Given the description of an element on the screen output the (x, y) to click on. 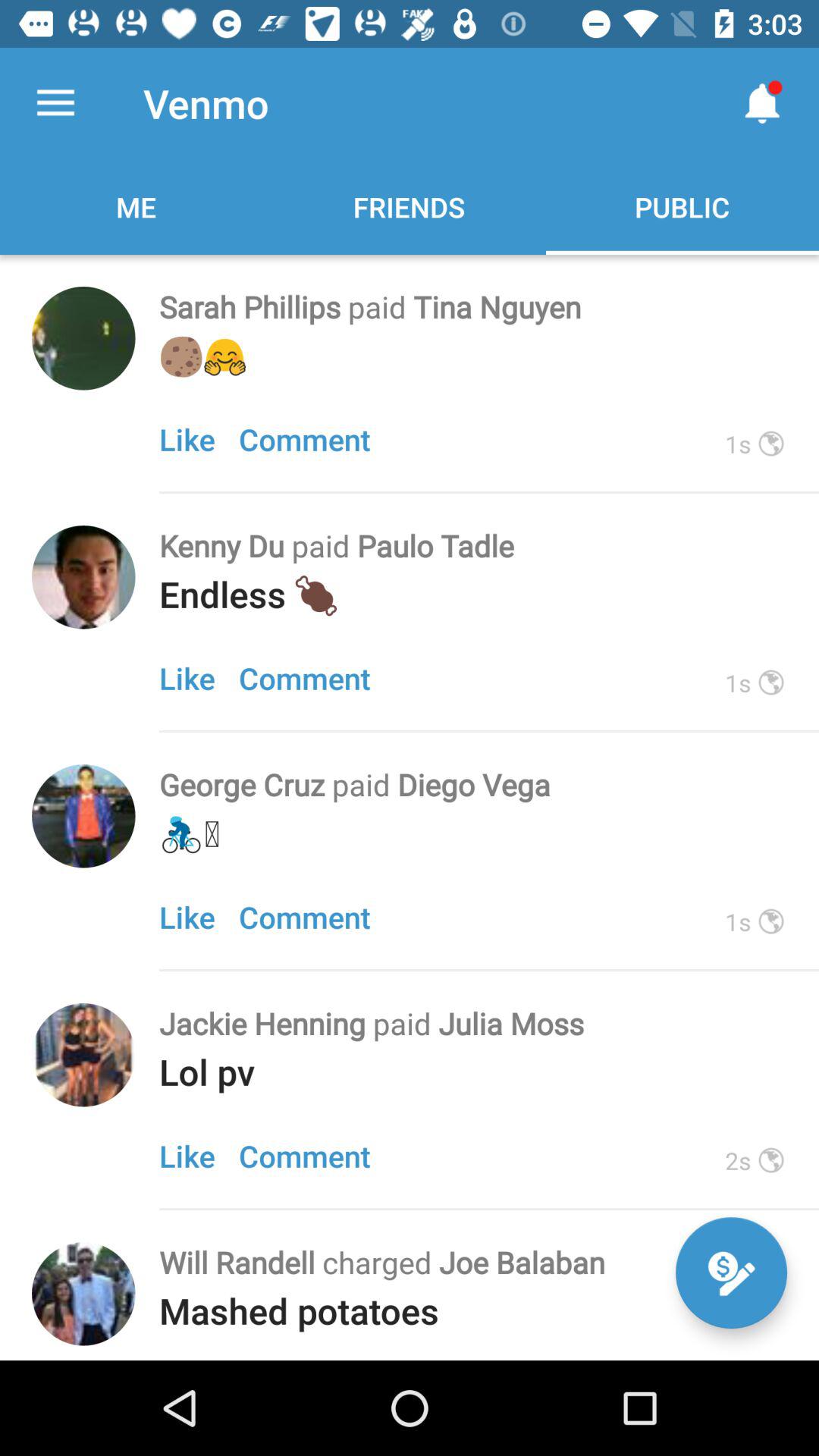
click picture to view user (83, 577)
